Given the description of an element on the screen output the (x, y) to click on. 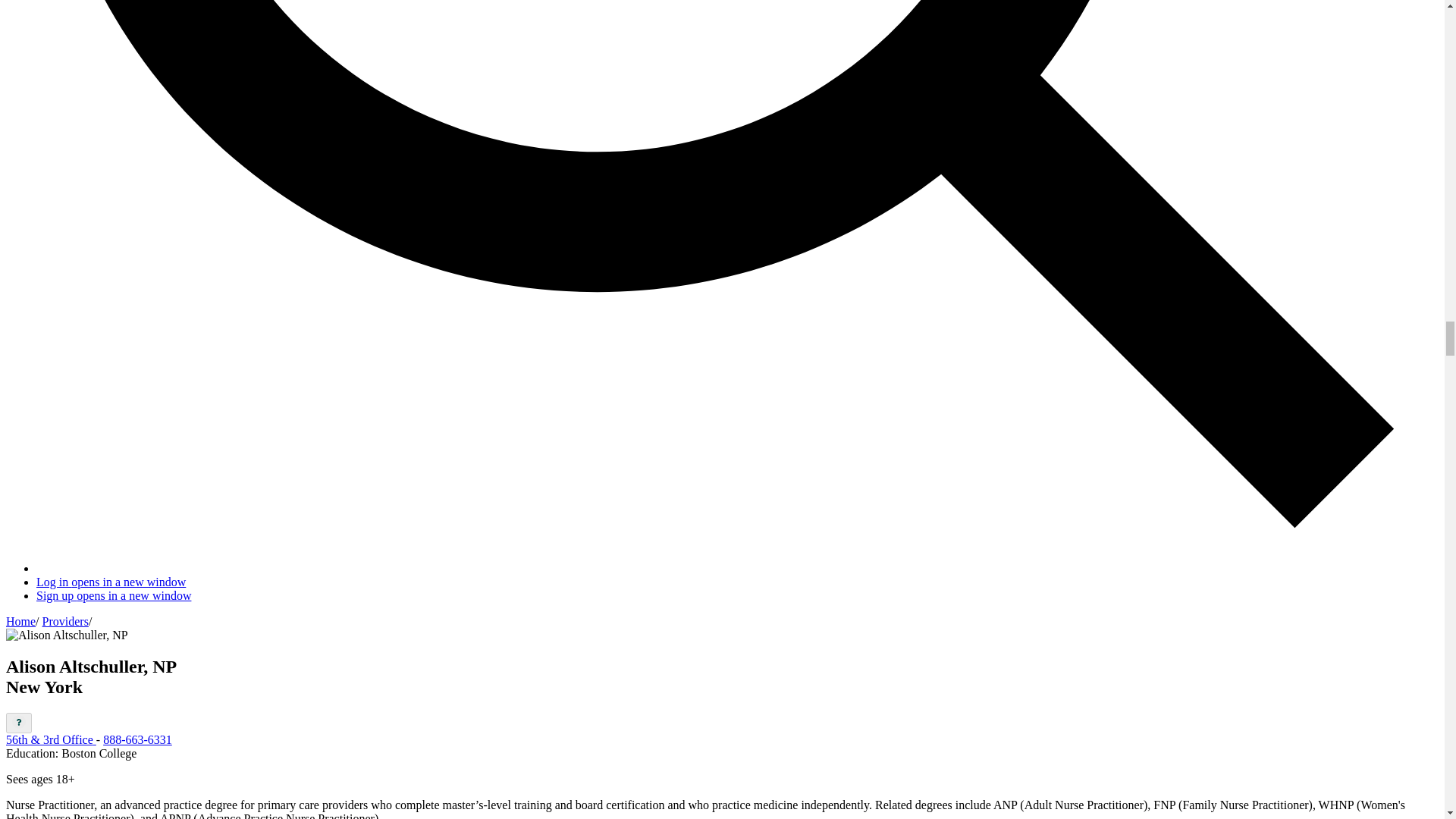
Sign up opens in a new window (113, 594)
Home (19, 621)
Log in opens in a new window (111, 581)
